Given the description of an element on the screen output the (x, y) to click on. 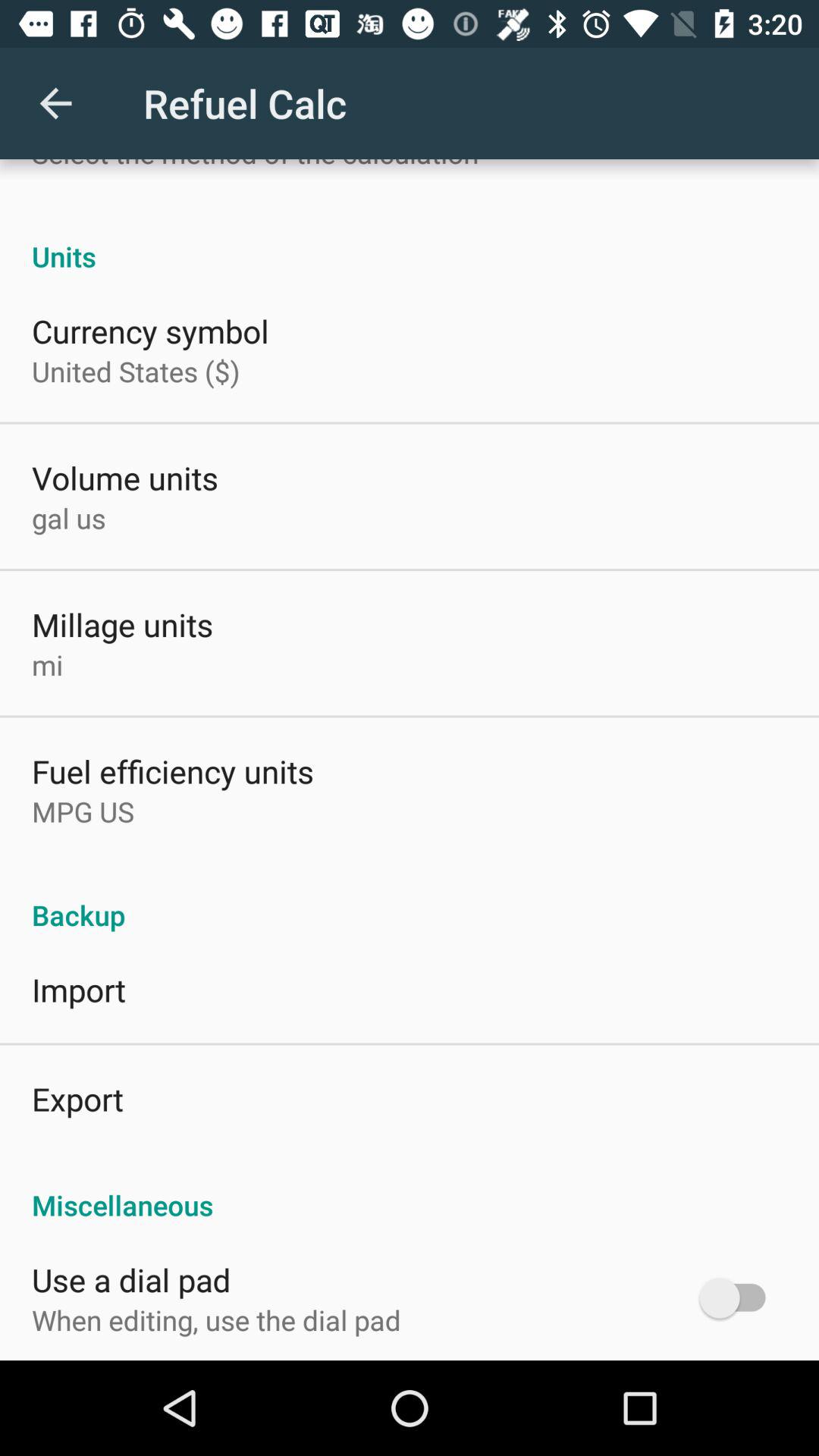
choose icon above use a dial item (409, 1188)
